Given the description of an element on the screen output the (x, y) to click on. 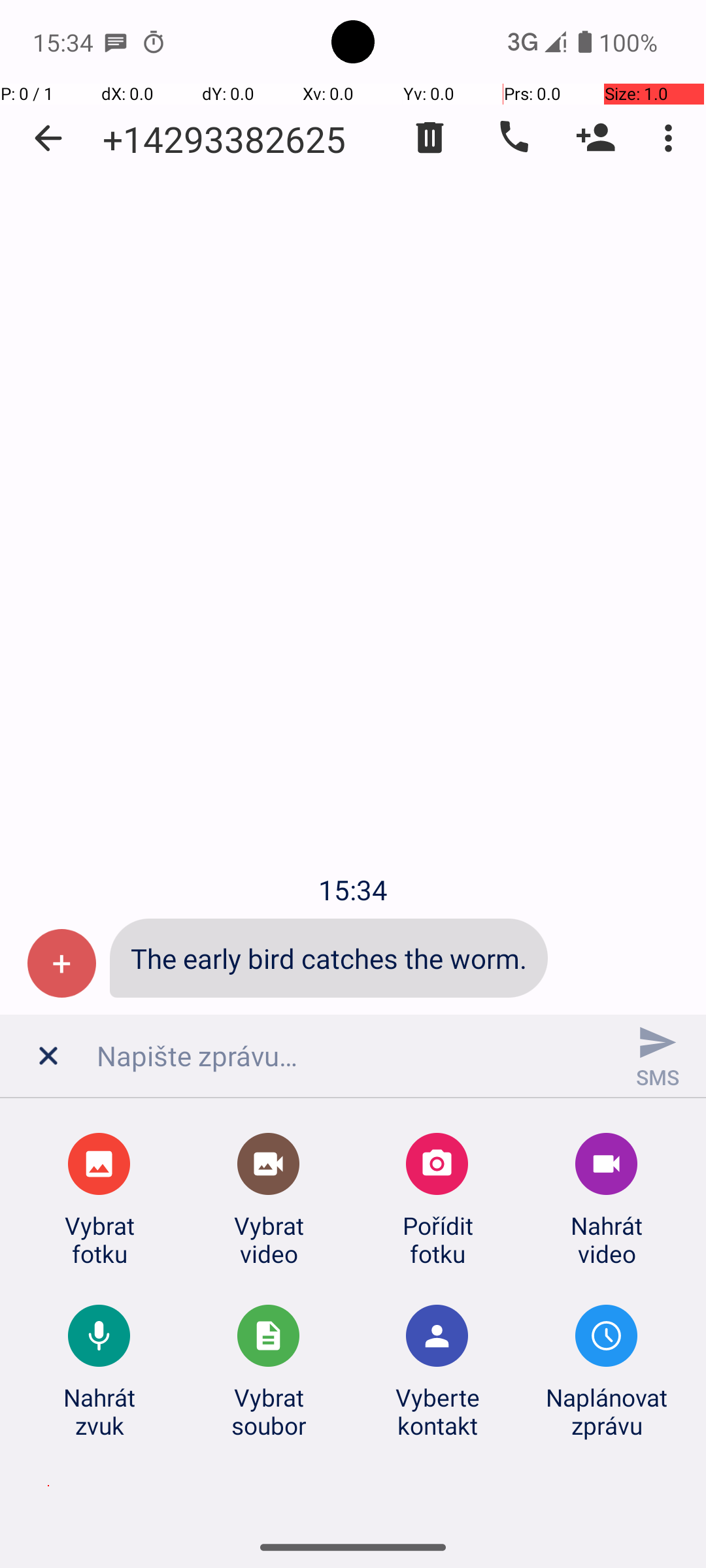
Zpět Element type: android.widget.ImageButton (48, 138)
+14293382625 Element type: android.widget.TextView (223, 138)
Smazat Element type: android.widget.Button (429, 137)
Vytočit číslo Element type: android.widget.Button (512, 137)
Přidat osobu Element type: android.widget.Button (595, 137)
Příloha Element type: android.widget.ImageView (49, 1060)
Napište zprávu… Element type: android.widget.EditText (352, 1055)
The early bird catches the worm. Element type: android.widget.TextView (328, 957)
Vybrat fotku Element type: android.widget.TextView (98, 1239)
Vybrat video Element type: android.widget.TextView (268, 1239)
Pořídit fotku Element type: android.widget.TextView (436, 1239)
Nahrát video Element type: android.widget.TextView (606, 1239)
Nahrát zvuk Element type: android.widget.TextView (98, 1410)
Vybrat soubor Element type: android.widget.TextView (268, 1410)
Vyberte kontakt Element type: android.widget.TextView (436, 1410)
Naplánovat zprávu Element type: android.widget.TextView (606, 1410)
